Given the description of an element on the screen output the (x, y) to click on. 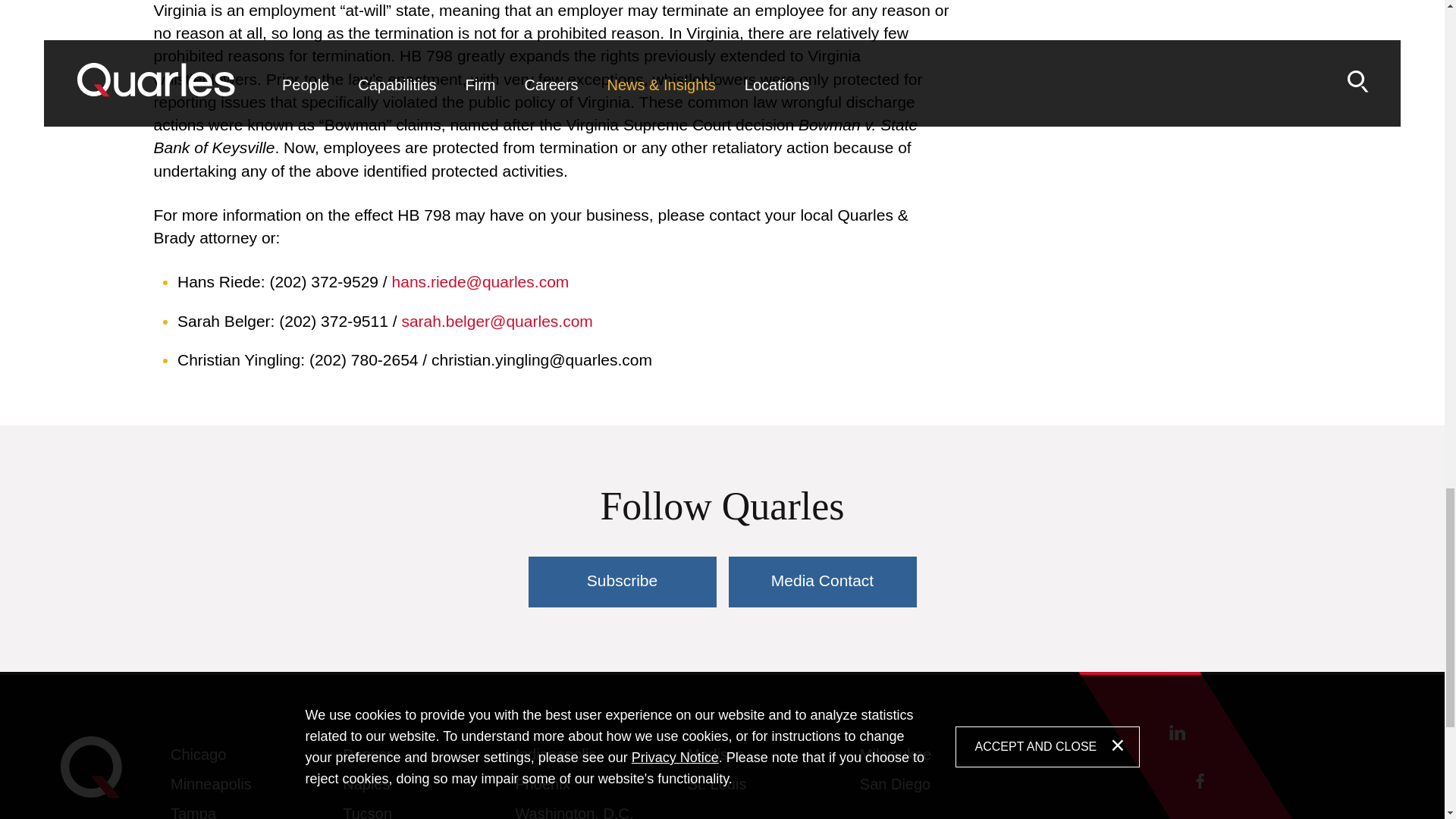
Linkedin (1177, 732)
